Given the description of an element on the screen output the (x, y) to click on. 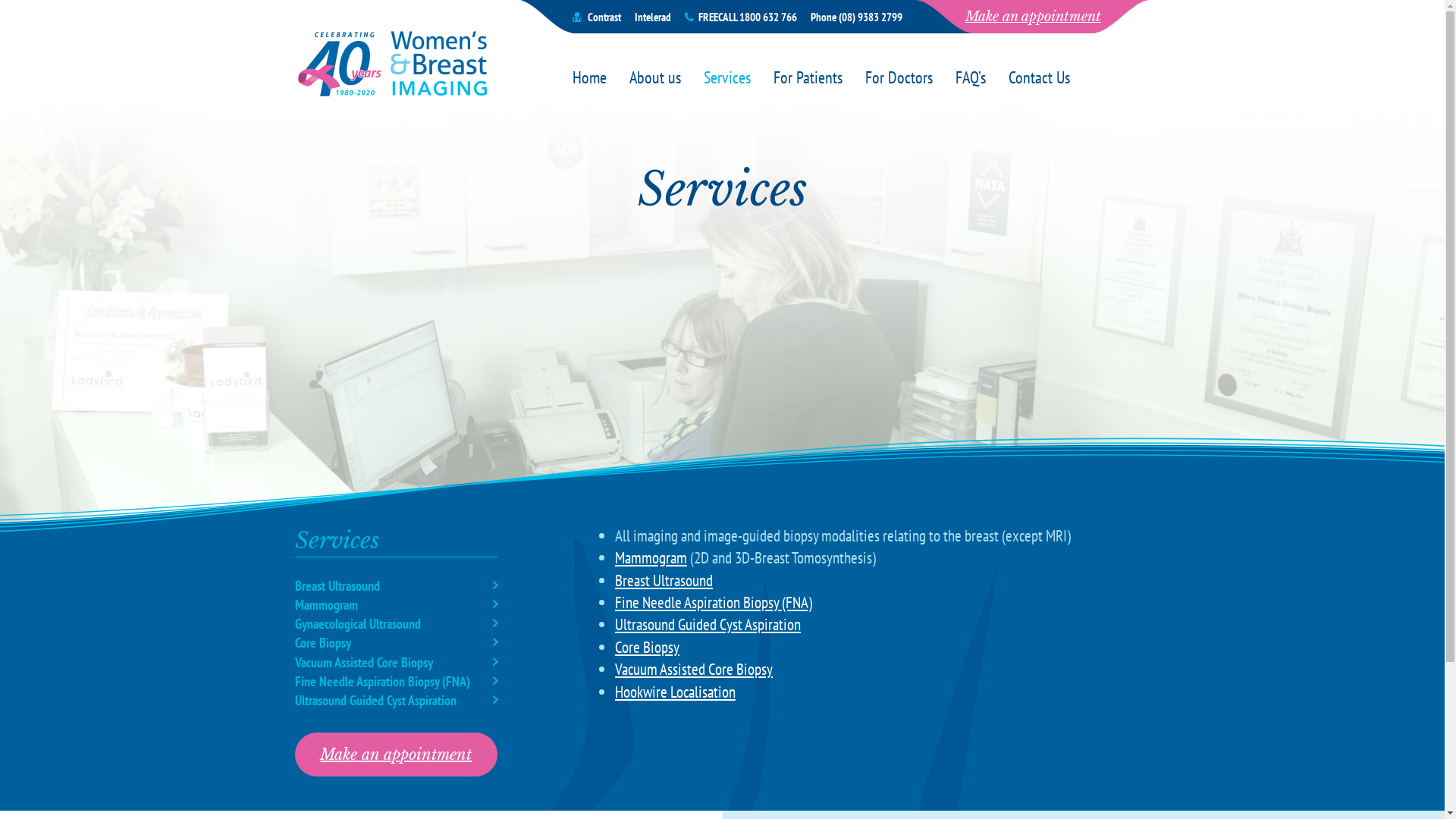
Home Element type: text (589, 77)
Fine Needle Aspiration Biopsy (FNA) Element type: text (713, 602)
About us Element type: text (655, 77)
Home page Element type: hover (395, 64)
Hookwire Localisation Element type: text (675, 691)
Core Biopsy Element type: text (396, 642)
Fine Needle Aspiration Biopsy (FNA) Element type: text (396, 680)
Make an appointment Element type: text (1032, 16)
Mammogram Element type: text (396, 604)
Breast Ultrasound Element type: text (663, 580)
Vacuum Assisted Core Biopsy Element type: text (693, 668)
Gynaecological Ultrasound Element type: text (396, 623)
Breast Ultrasound Element type: text (396, 585)
Make an appointment Element type: text (396, 754)
Core Biopsy Element type: text (647, 647)
Ultrasound Guided Cyst Aspiration Element type: text (396, 699)
Services Element type: text (727, 77)
Ultrasound Guided Cyst Aspiration Element type: text (707, 624)
Contact Us Element type: text (1039, 77)
Mammogram Element type: text (651, 557)
For Patients Element type: text (807, 77)
For Doctors Element type: text (898, 77)
Vacuum Assisted Core Biopsy Element type: text (396, 661)
